Given the description of an element on the screen output the (x, y) to click on. 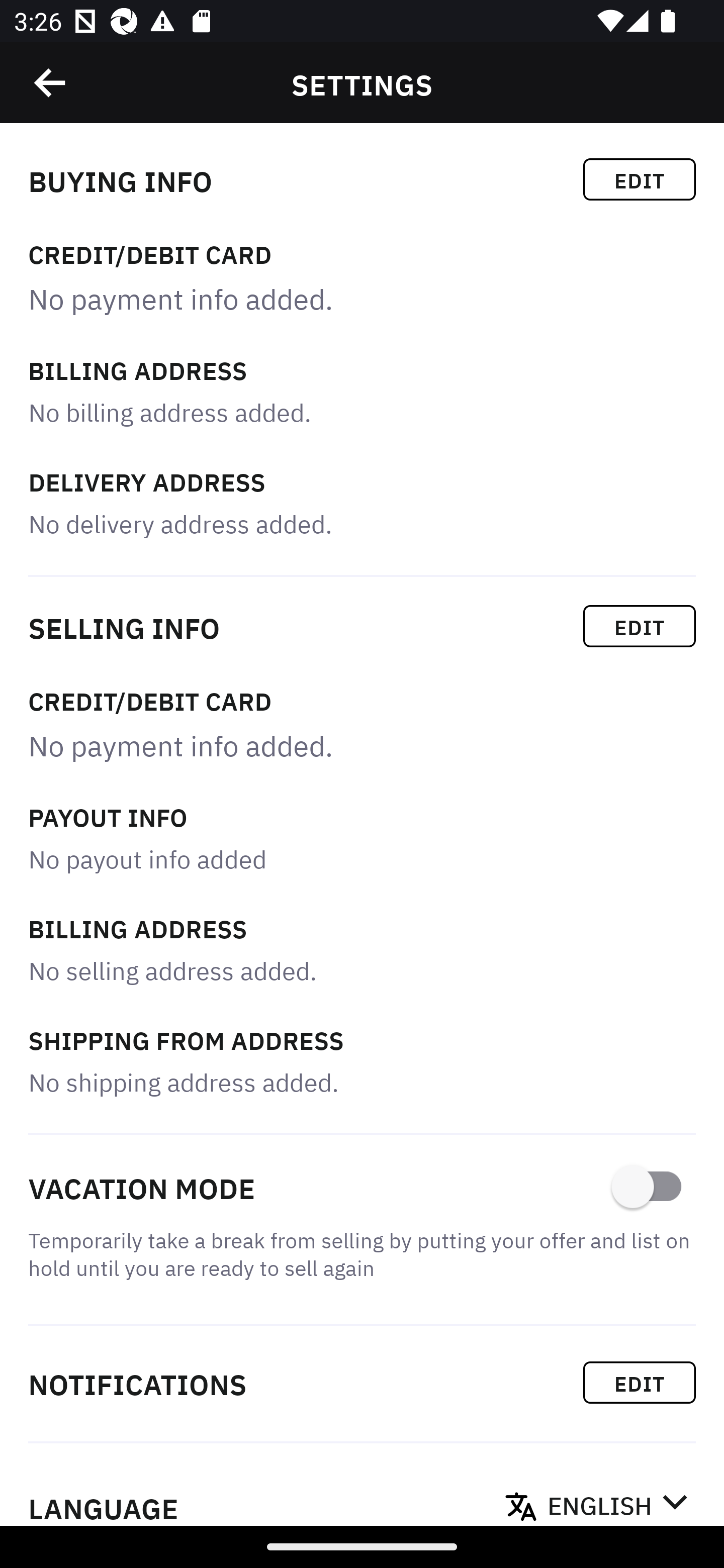
 (50, 83)
EDIT (639, 179)
EDIT (639, 626)
EDIT (639, 1382)
ENGLISH  (617, 1499)
